Given the description of an element on the screen output the (x, y) to click on. 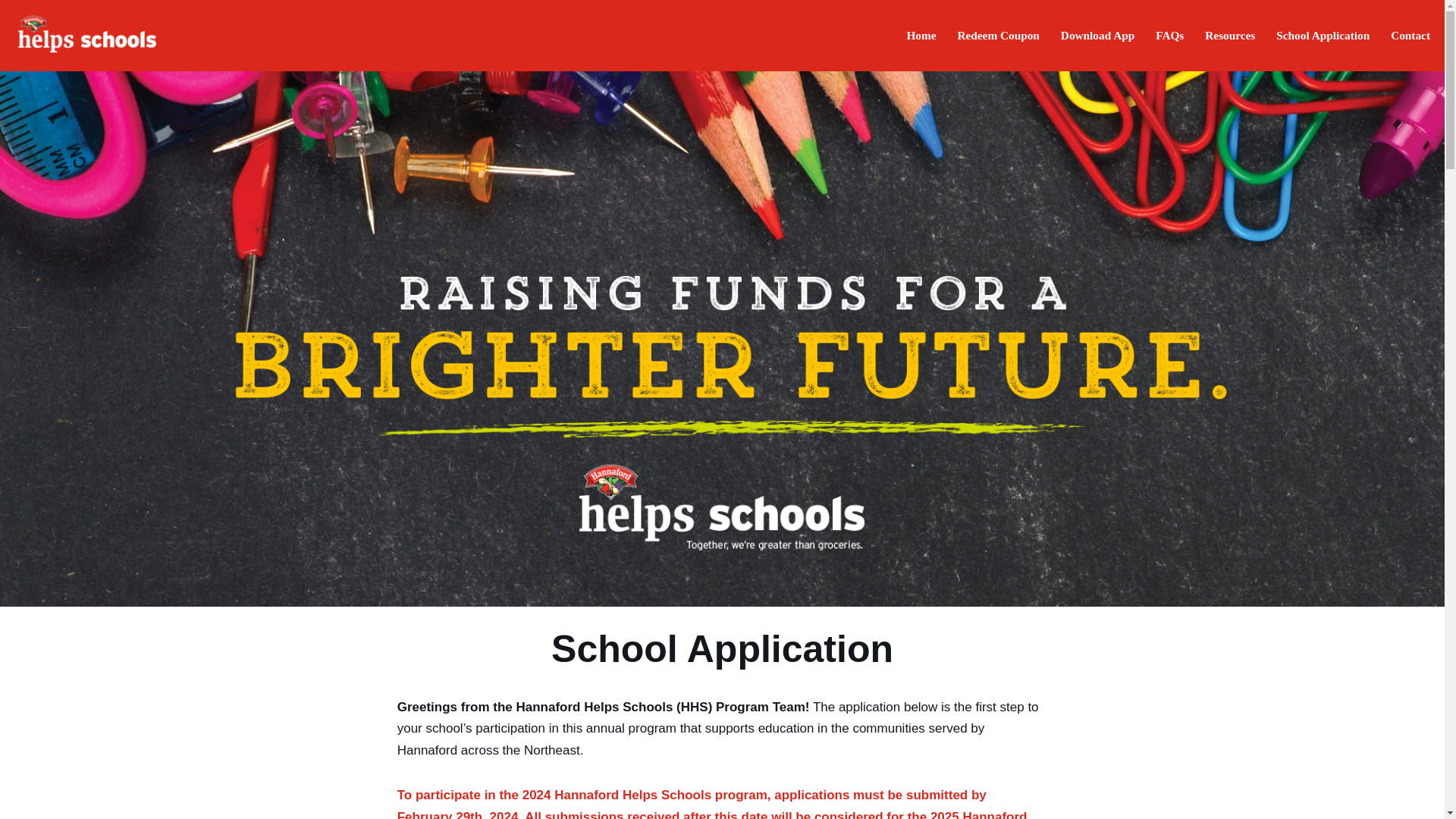
Resources (1230, 35)
Skip to content (11, 31)
Contact (1409, 35)
Redeem Coupon (997, 35)
Home (920, 35)
School Application (1323, 35)
FAQs (1169, 35)
Download App (1097, 35)
